Given the description of an element on the screen output the (x, y) to click on. 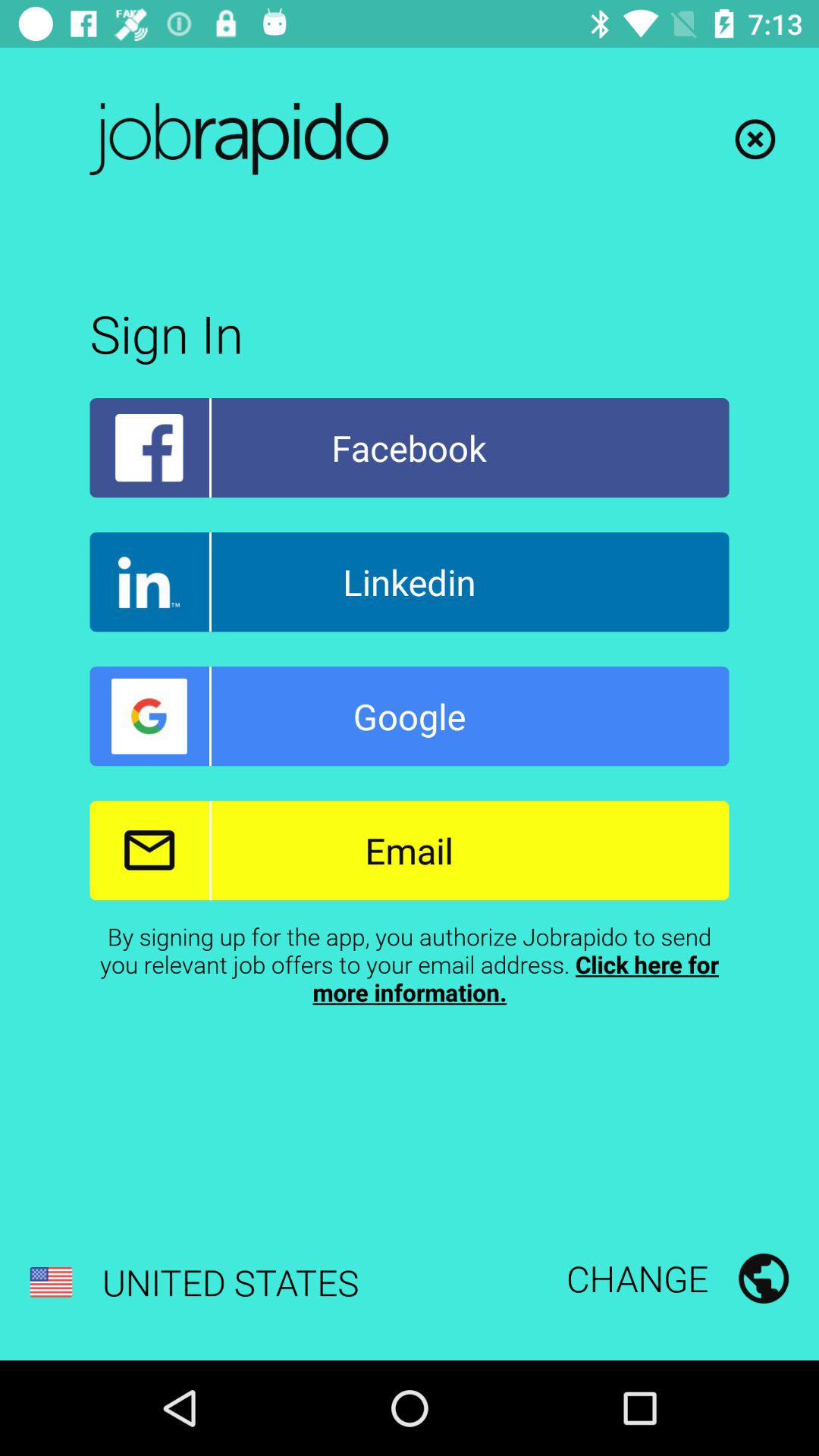
turn on the icon to the right of united states (677, 1278)
